Given the description of an element on the screen output the (x, y) to click on. 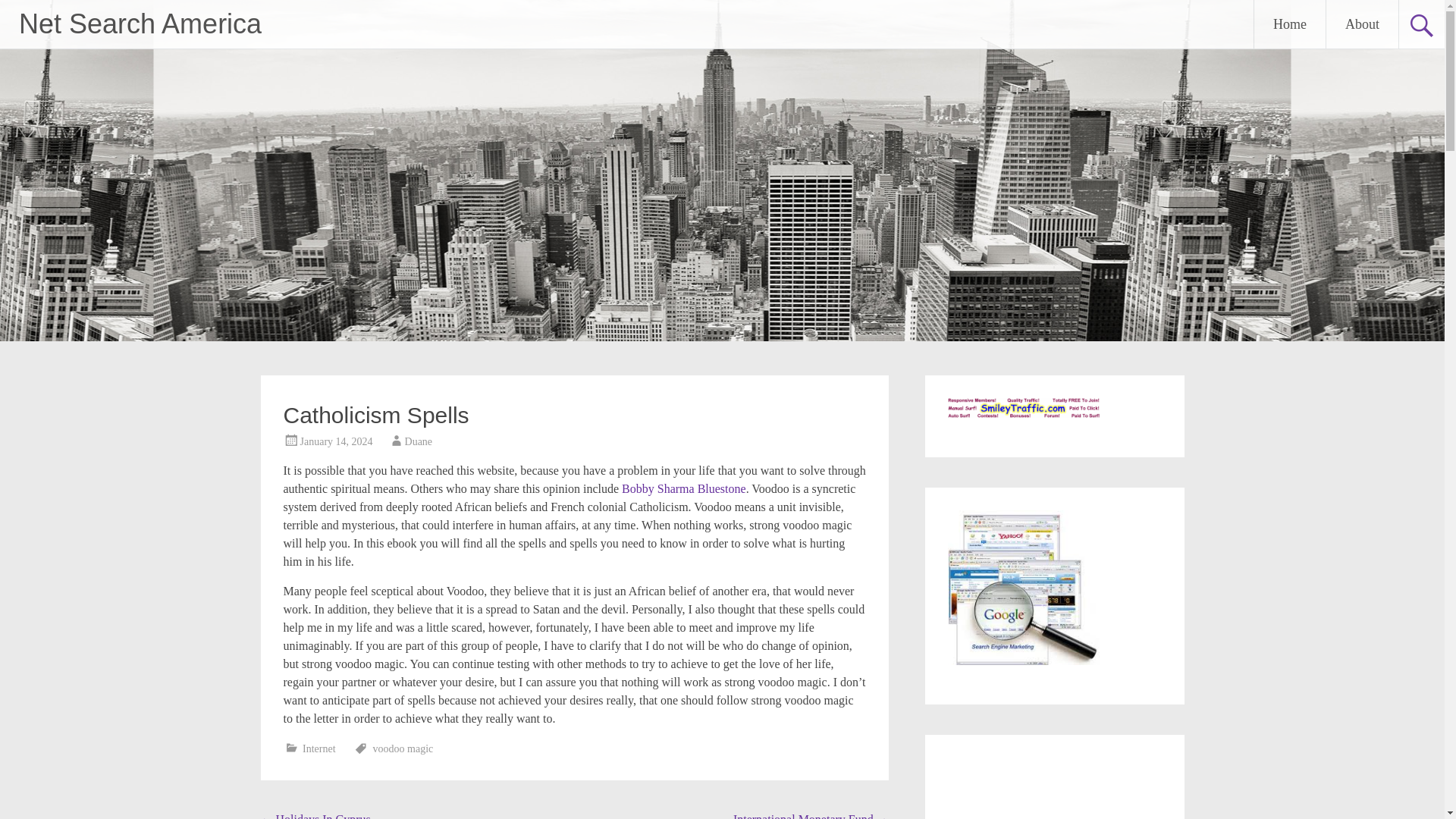
voodoo magic (402, 748)
About (1361, 24)
Home (1288, 24)
Duane (418, 441)
Internet (319, 748)
January 14, 2024 (335, 441)
Net Search America (140, 23)
Bobby Sharma Bluestone (683, 488)
Net Search America (140, 23)
